Given the description of an element on the screen output the (x, y) to click on. 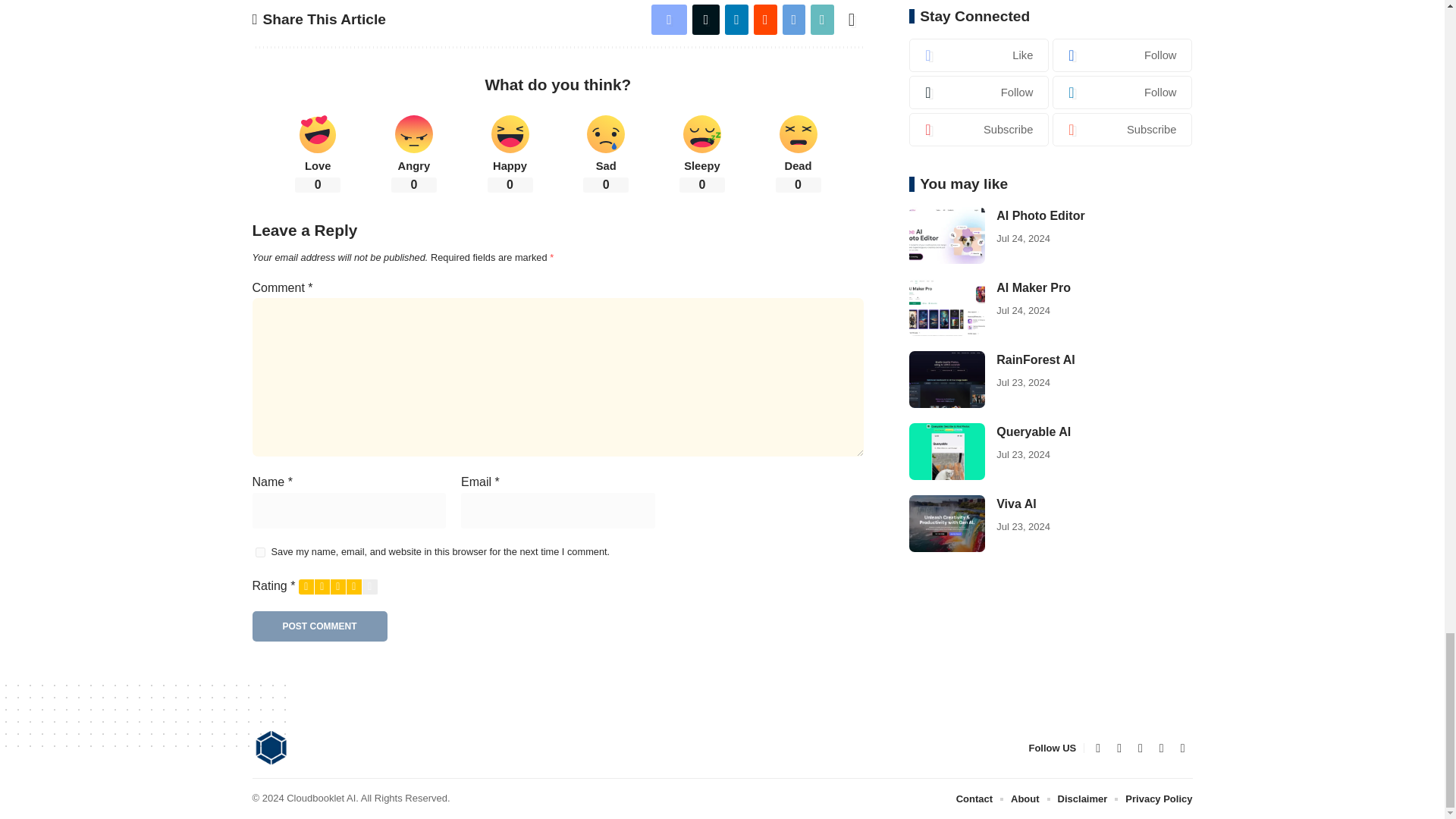
1 Star (306, 586)
4 Stars (353, 586)
3 Stars (338, 586)
yes (259, 552)
5 Stars (369, 586)
Post Comment (319, 625)
2 Stars (322, 586)
